Given the description of an element on the screen output the (x, y) to click on. 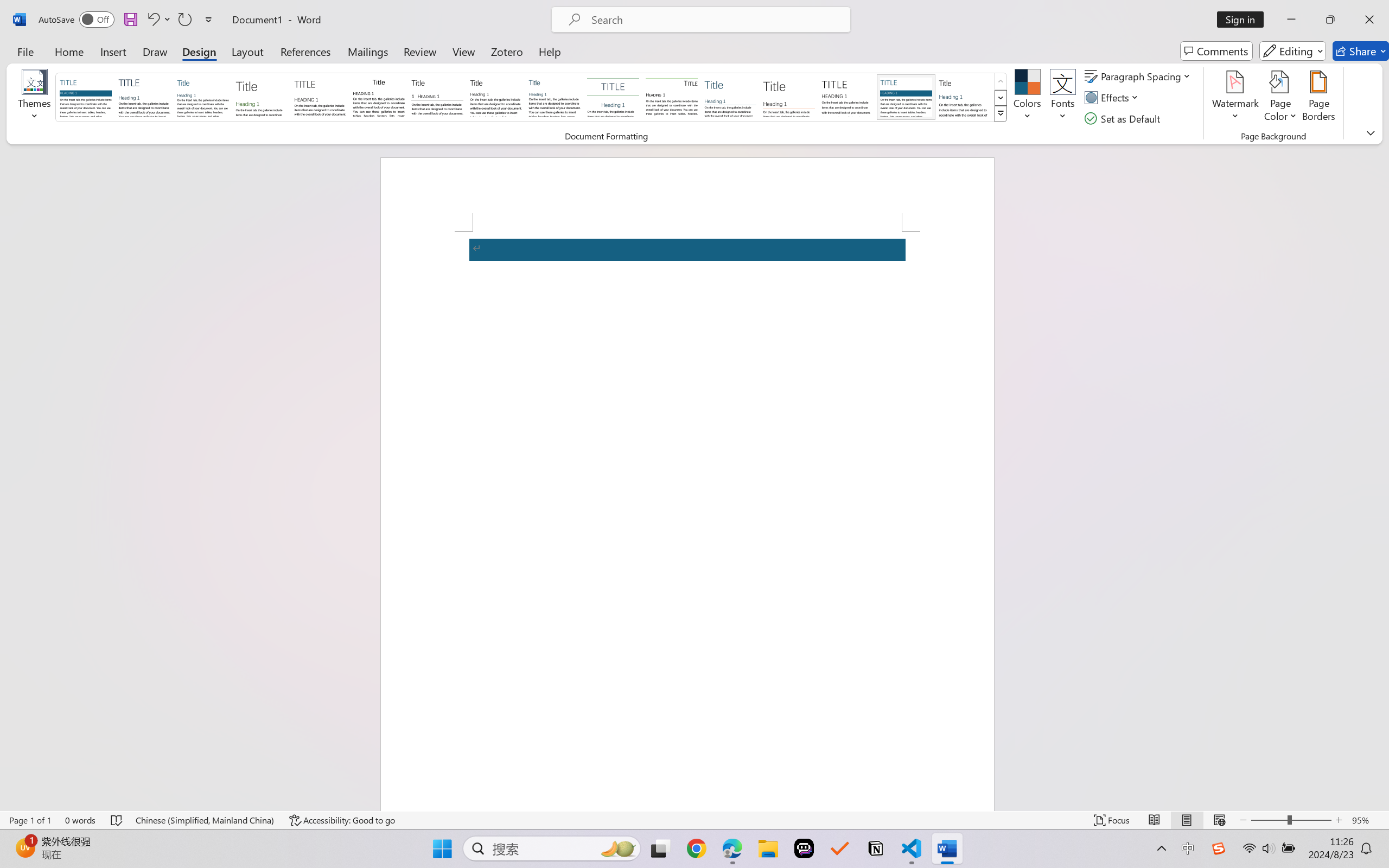
Black & White (Capitalized) (320, 96)
Style Set (1000, 113)
Themes (34, 97)
Black & White (Classic) (379, 96)
Shaded (905, 96)
